Given the description of an element on the screen output the (x, y) to click on. 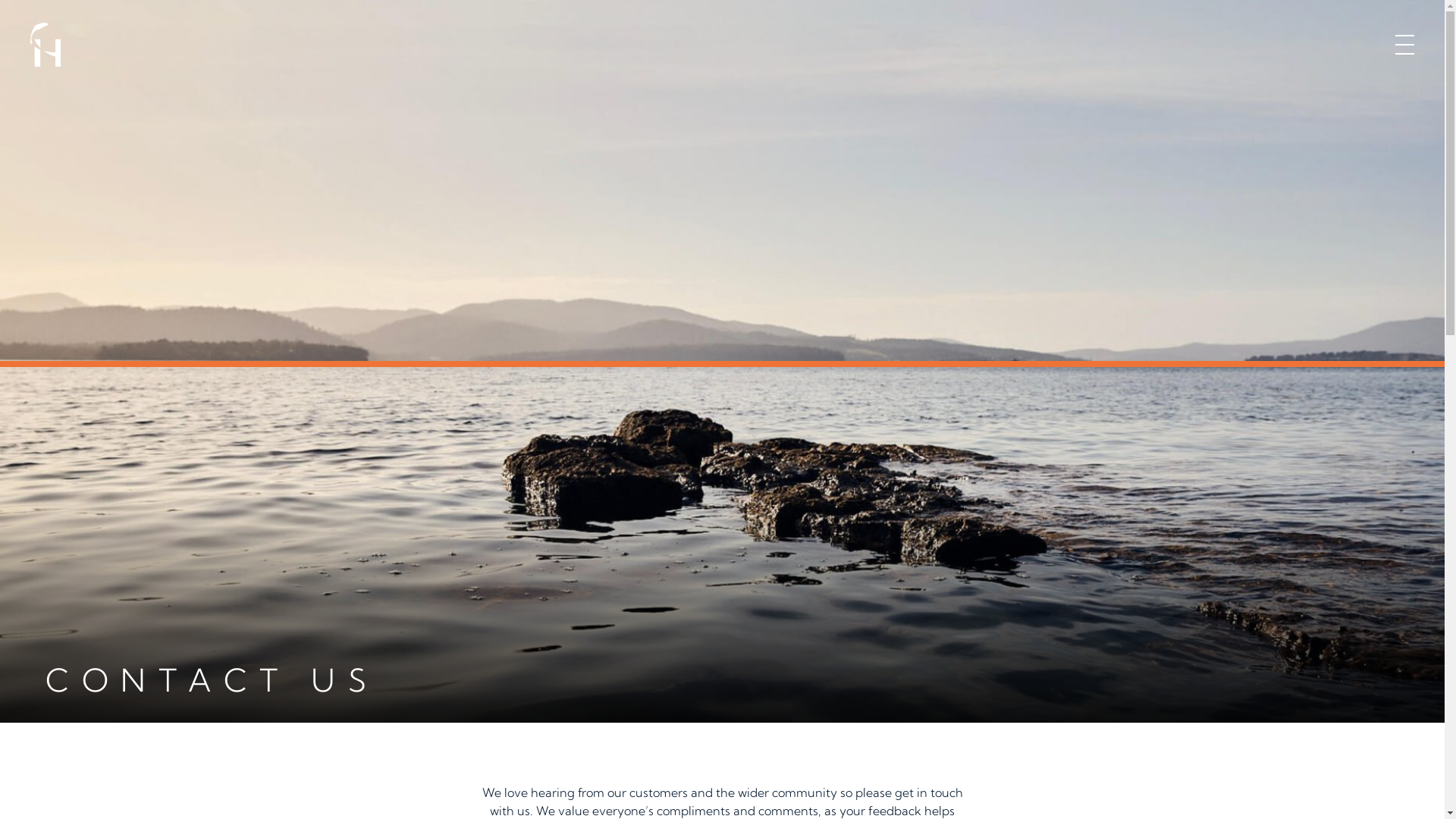
Menu Element type: text (1404, 44)
